Given the description of an element on the screen output the (x, y) to click on. 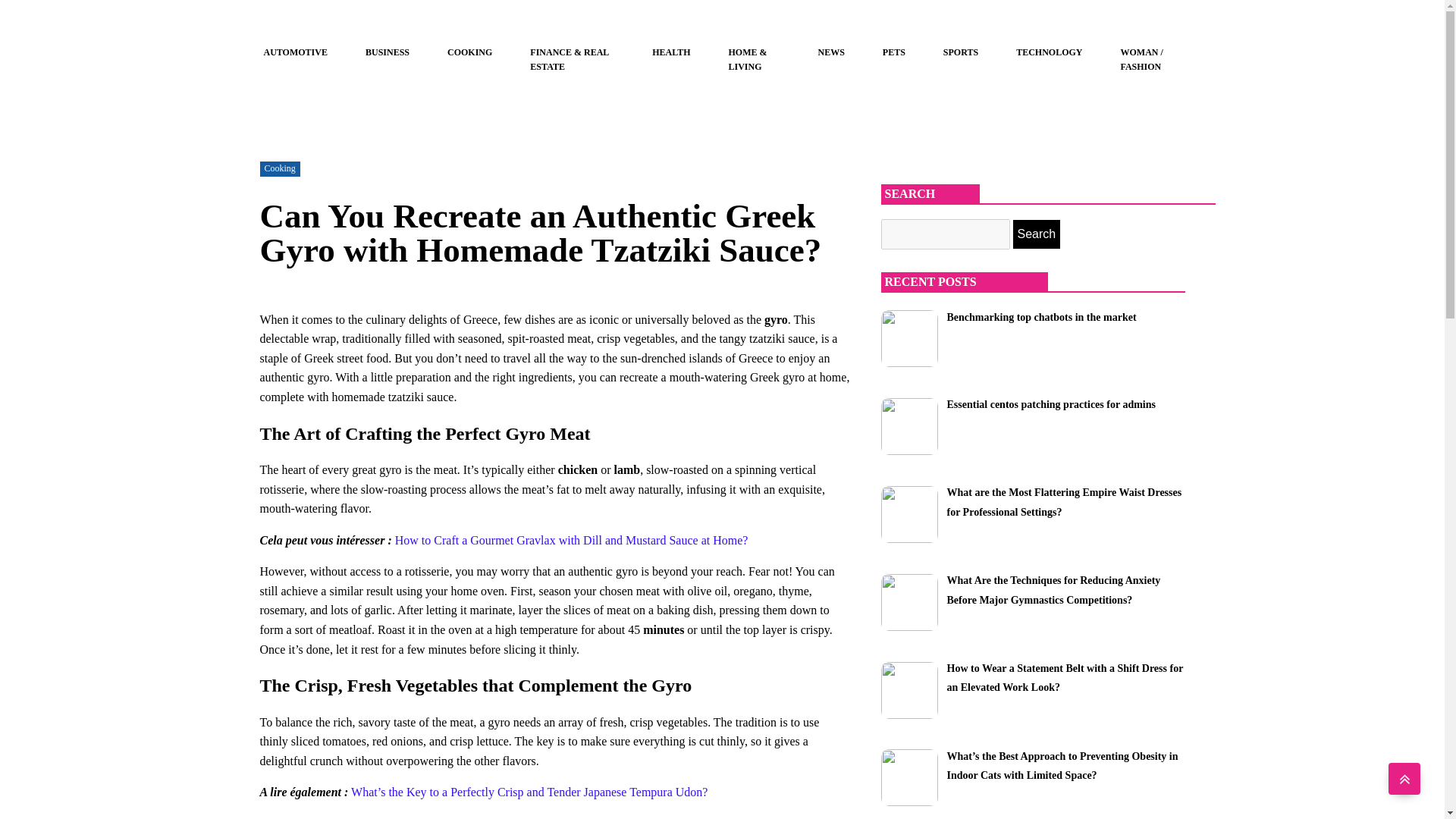
Benchmarking top chatbots in the market (1040, 316)
AUTOMOTIVE (295, 52)
PETS (893, 52)
Cooking (279, 167)
COOKING (469, 52)
Search (1037, 234)
HEALTH (671, 52)
